Given the description of an element on the screen output the (x, y) to click on. 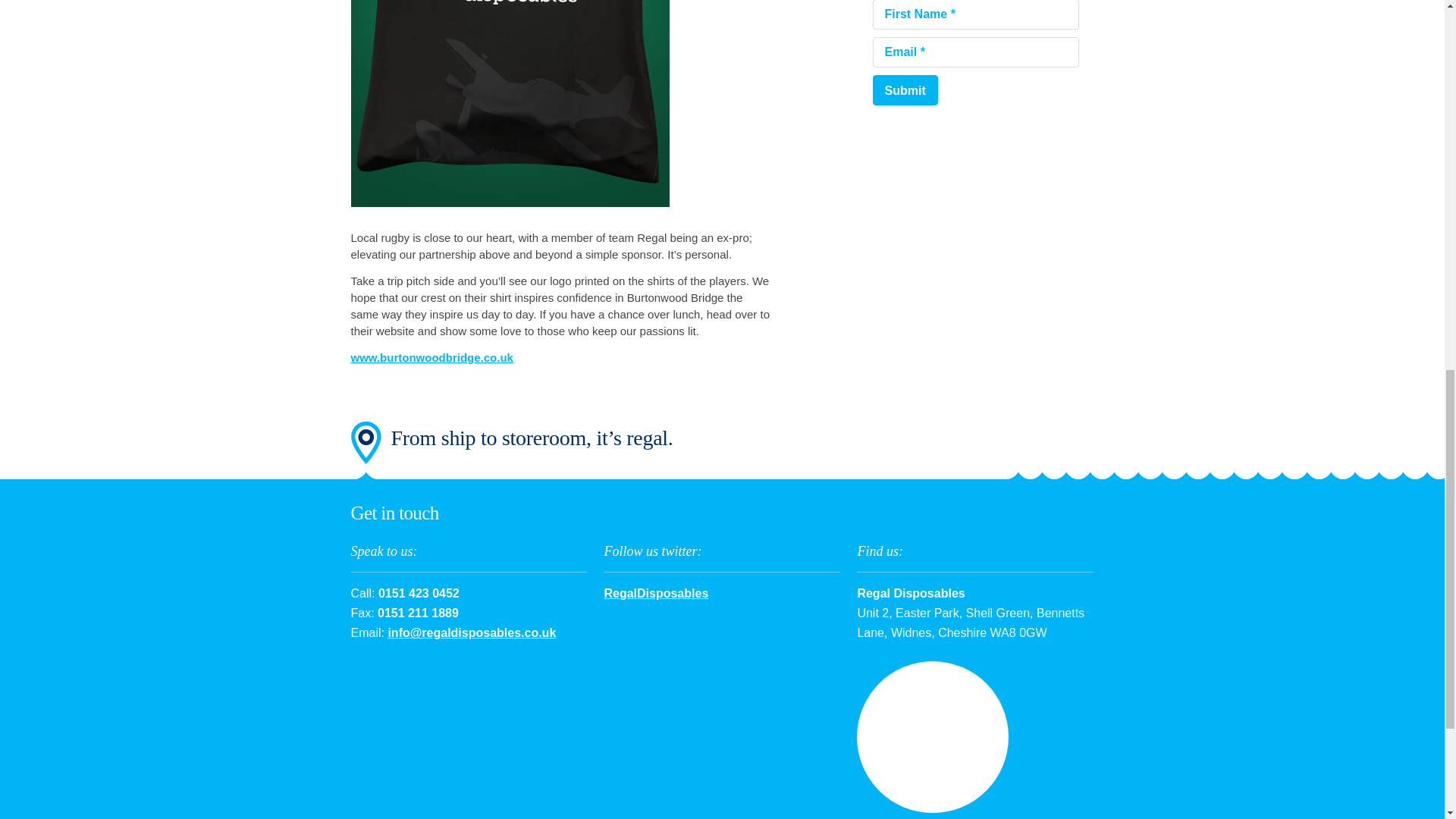
Submit (904, 90)
RegalDisposables (655, 593)
www.burtonwoodbridge.co.uk (431, 357)
